Given the description of an element on the screen output the (x, y) to click on. 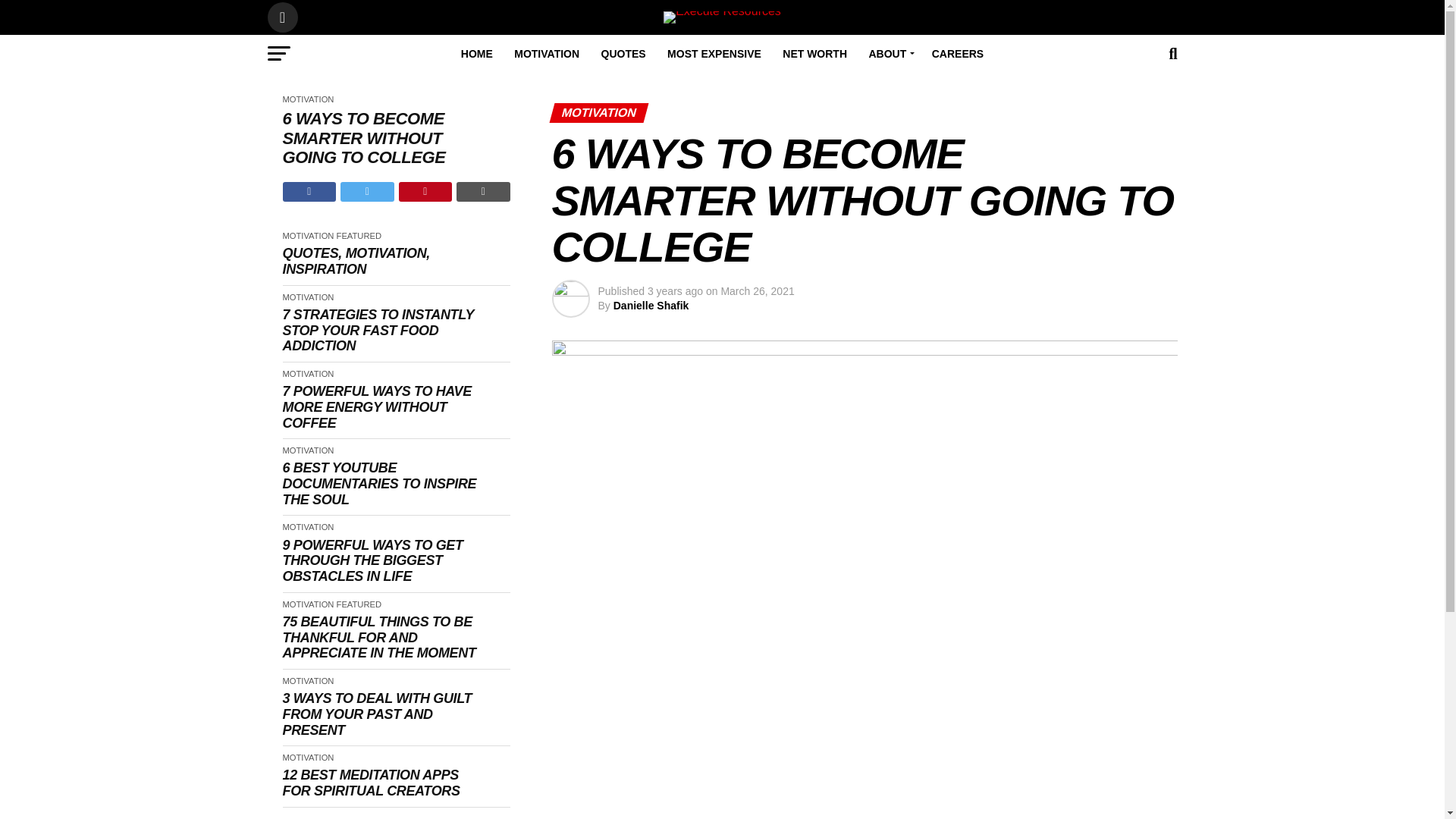
QUOTES (623, 53)
Share on Facebook (309, 191)
HOME (476, 53)
MOST EXPENSIVE (714, 53)
NET WORTH (814, 53)
Tweet This Post (367, 191)
MOTIVATION (546, 53)
Pin This Post (425, 191)
